Given the description of an element on the screen output the (x, y) to click on. 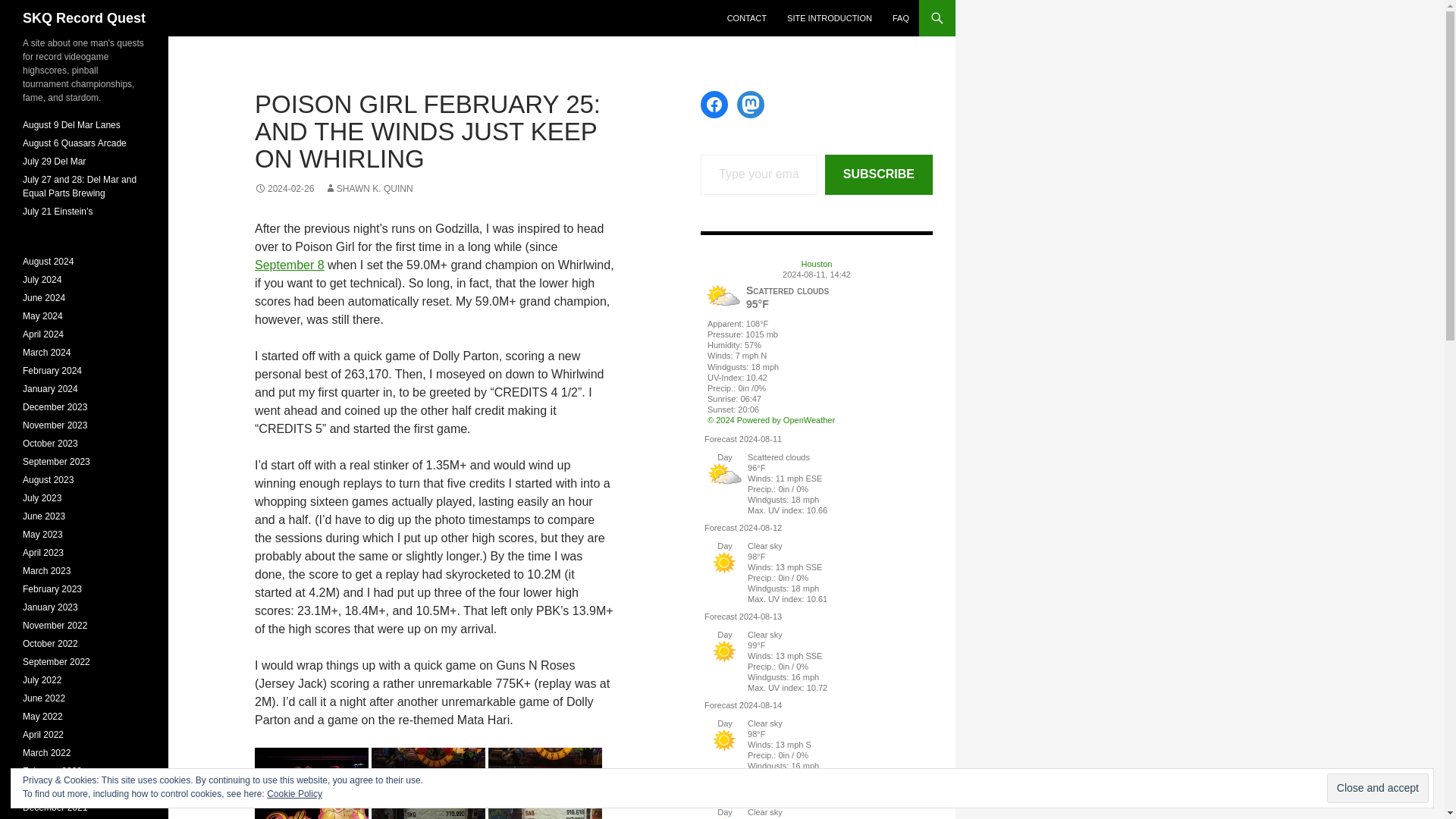
SITE INTRODUCTION (828, 18)
Facebook (714, 103)
SKQ Record Quest (84, 18)
Houston (817, 263)
Please fill in this field. (758, 174)
SUBSCRIBE (879, 174)
FAQ (900, 18)
September 8 (289, 264)
CONTACT (746, 18)
Close and accept (1377, 788)
